Given the description of an element on the screen output the (x, y) to click on. 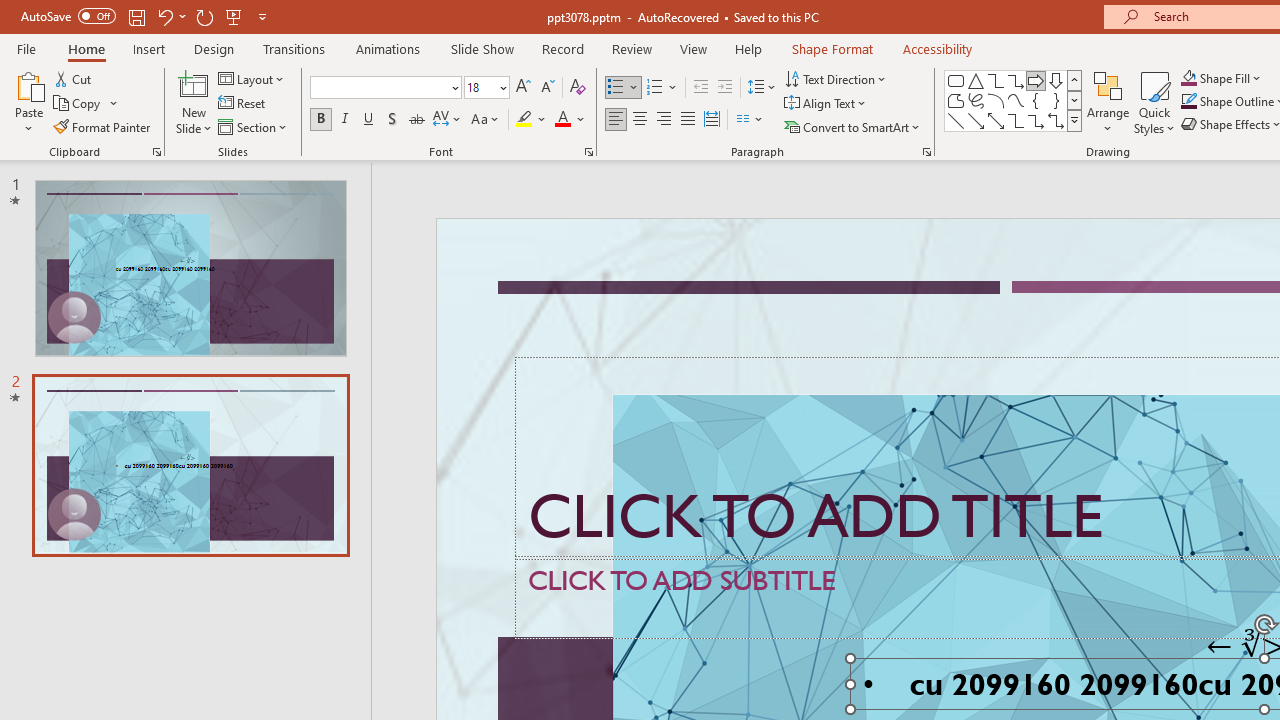
Line Arrow: Double (995, 120)
